Given the description of an element on the screen output the (x, y) to click on. 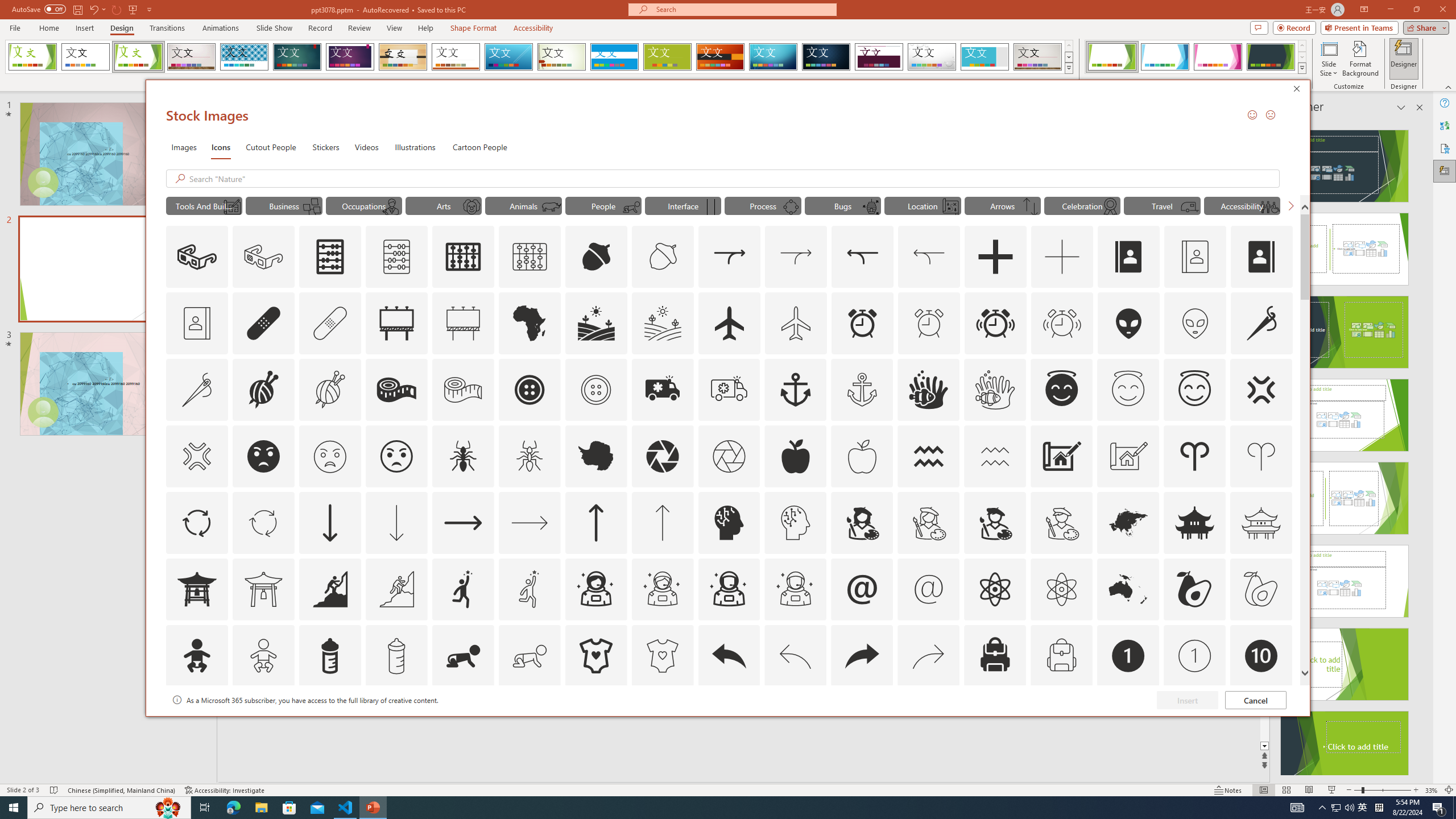
AutomationID: Icons_At_M (928, 588)
AutomationID: SlideThemesGallery (539, 56)
AutomationID: Icons_Ribbon_M (1110, 206)
